Given the description of an element on the screen output the (x, y) to click on. 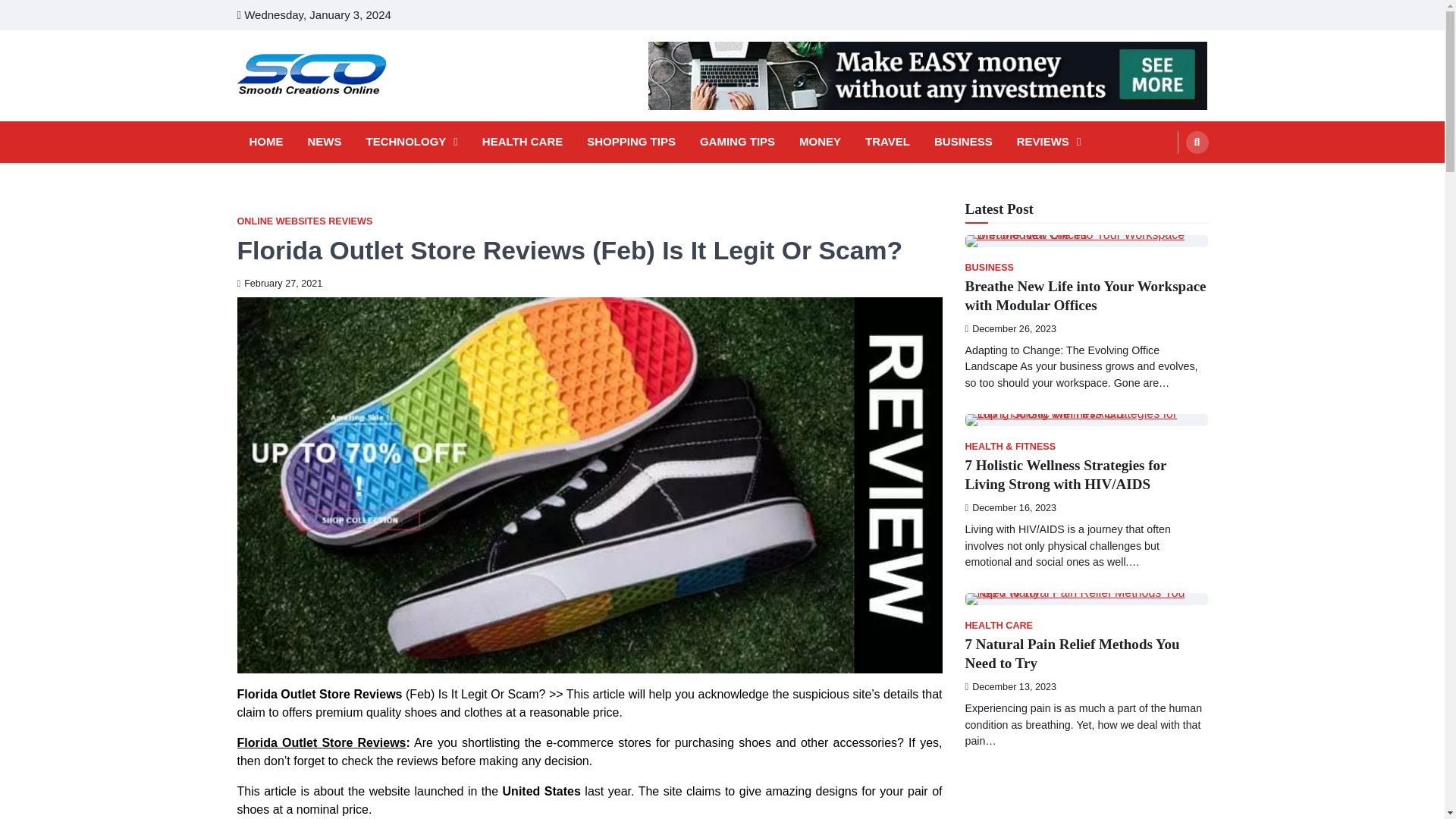
ONLINE WEBSITES REVIEWS (303, 221)
TRAVEL (887, 141)
Breathe New Life into Your Workspace with Modular Offices (1084, 295)
GAMING TIPS (737, 141)
SHOPPING TIPS (630, 141)
December 26, 2023 (1010, 328)
smoothcreationsonline (358, 116)
NEWS (324, 141)
TECHNOLOGY (411, 141)
HOME (265, 141)
